Given the description of an element on the screen output the (x, y) to click on. 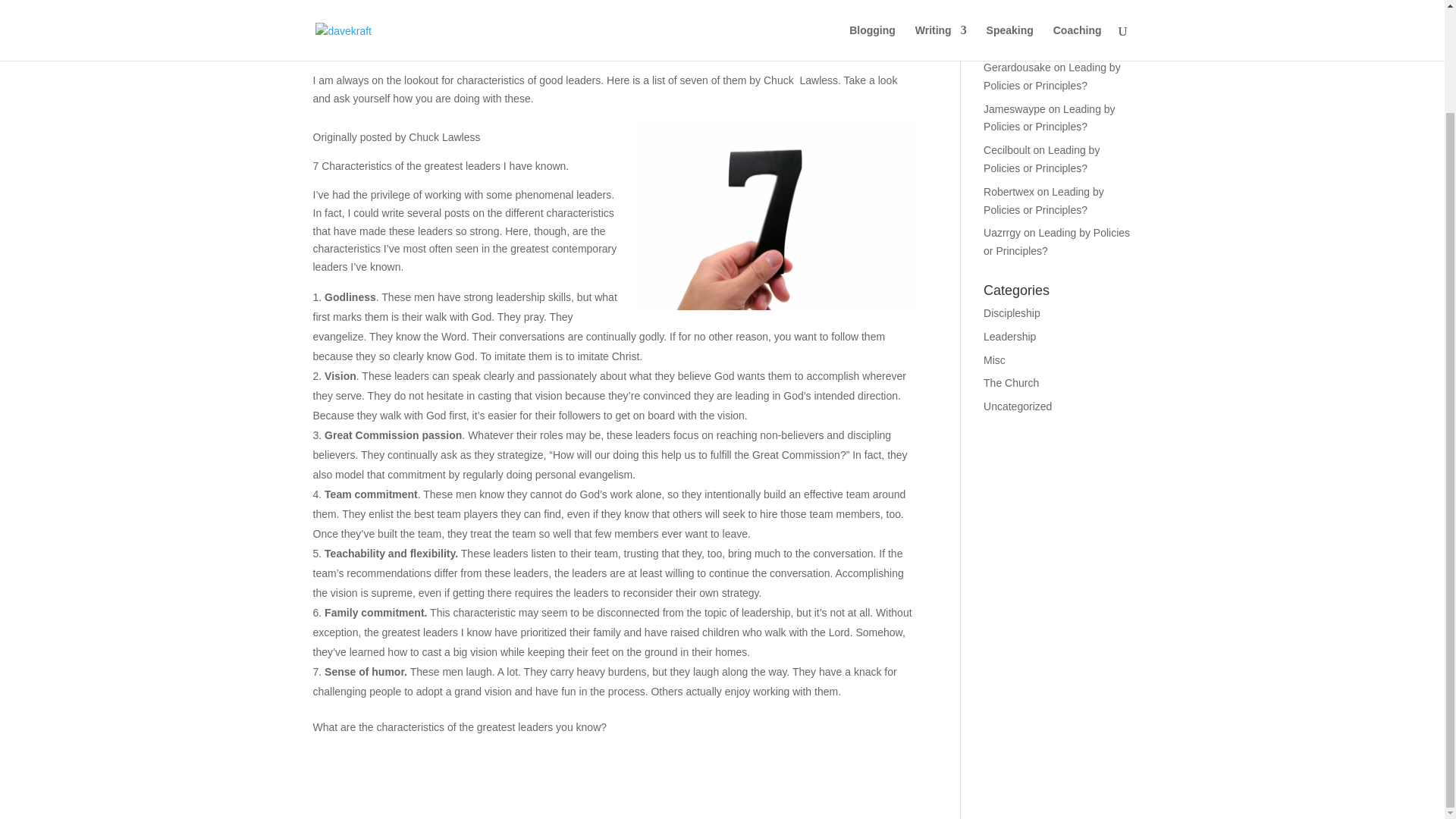
Robertwex (1008, 191)
Cecilboult (1006, 150)
Discipleship (1012, 313)
Search (1106, 7)
Uncategorized (1017, 406)
Leading by Policies or Principles? (1052, 76)
Gerardousake (1017, 67)
Uncategorized (491, 23)
Misc (995, 359)
Leading by Policies or Principles? (1049, 118)
Search (1106, 7)
Posts by Dave Kraft (351, 23)
Leadership (1009, 336)
Leading by Policies or Principles? (1043, 200)
Jameswaype (1014, 109)
